Given the description of an element on the screen output the (x, y) to click on. 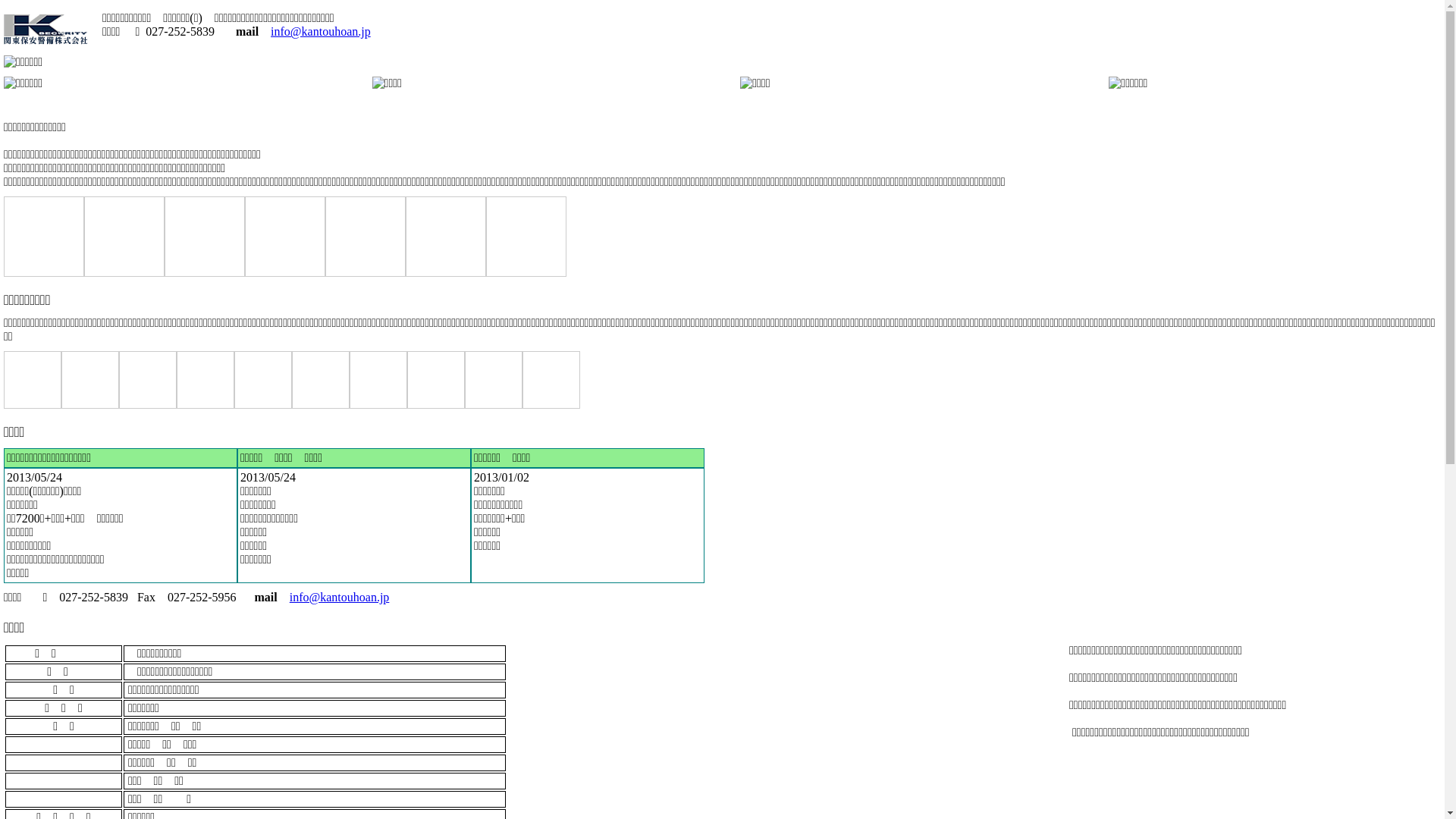
info@kantouhoan.jp Element type: text (320, 31)
info@kantouhoan.jp Element type: text (339, 596)
